Given the description of an element on the screen output the (x, y) to click on. 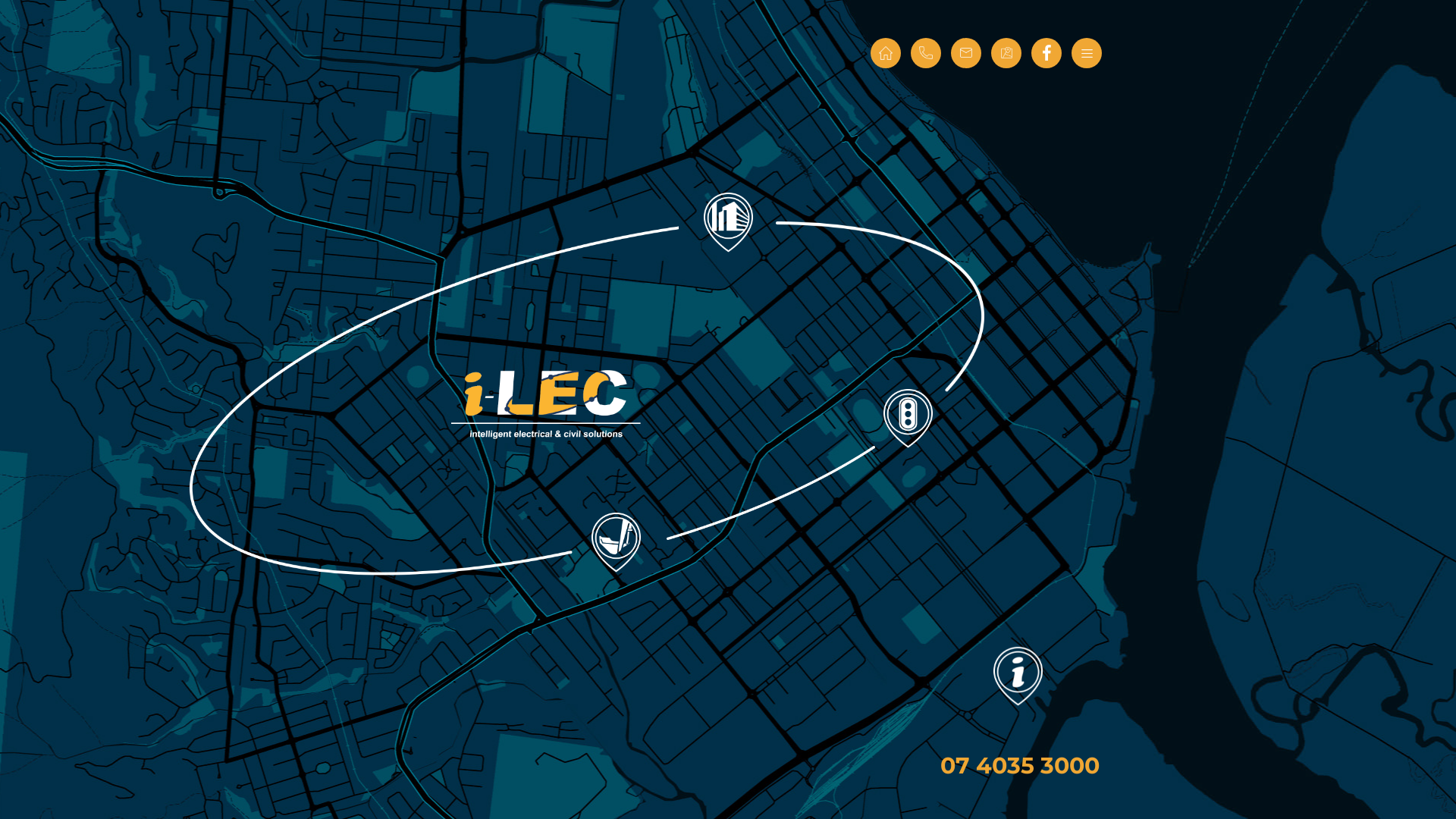
07 4035 3000 Element type: text (1019, 765)
